Given the description of an element on the screen output the (x, y) to click on. 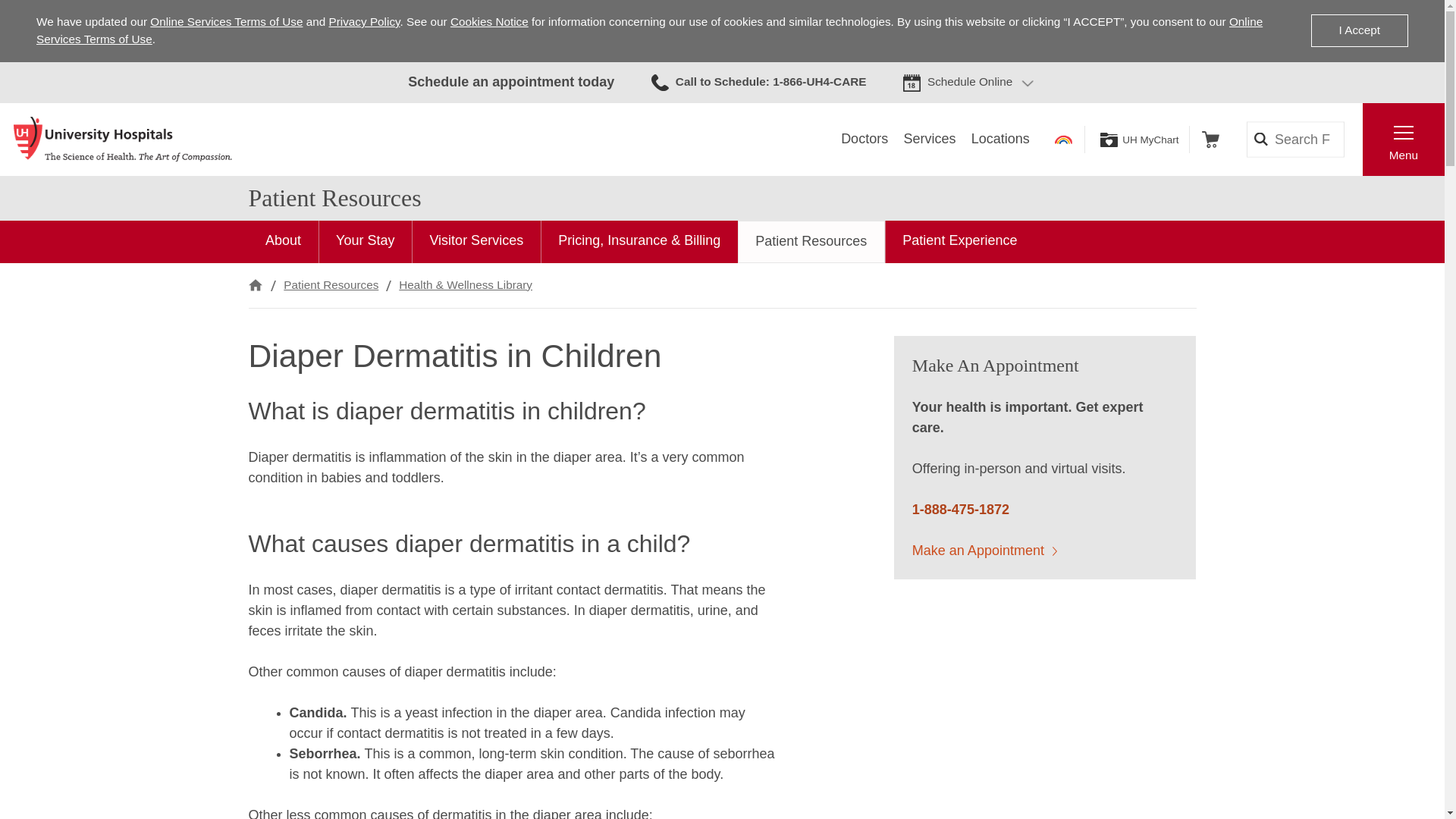
Schedule Online (968, 81)
Call to Schedule: 1-866-UH4-CARE (758, 81)
Cookies Notice (488, 21)
I Accept (1359, 30)
Online Services Terms of Use (225, 21)
Online Services Terms of Use (649, 30)
Privacy Policy (363, 21)
